Given the description of an element on the screen output the (x, y) to click on. 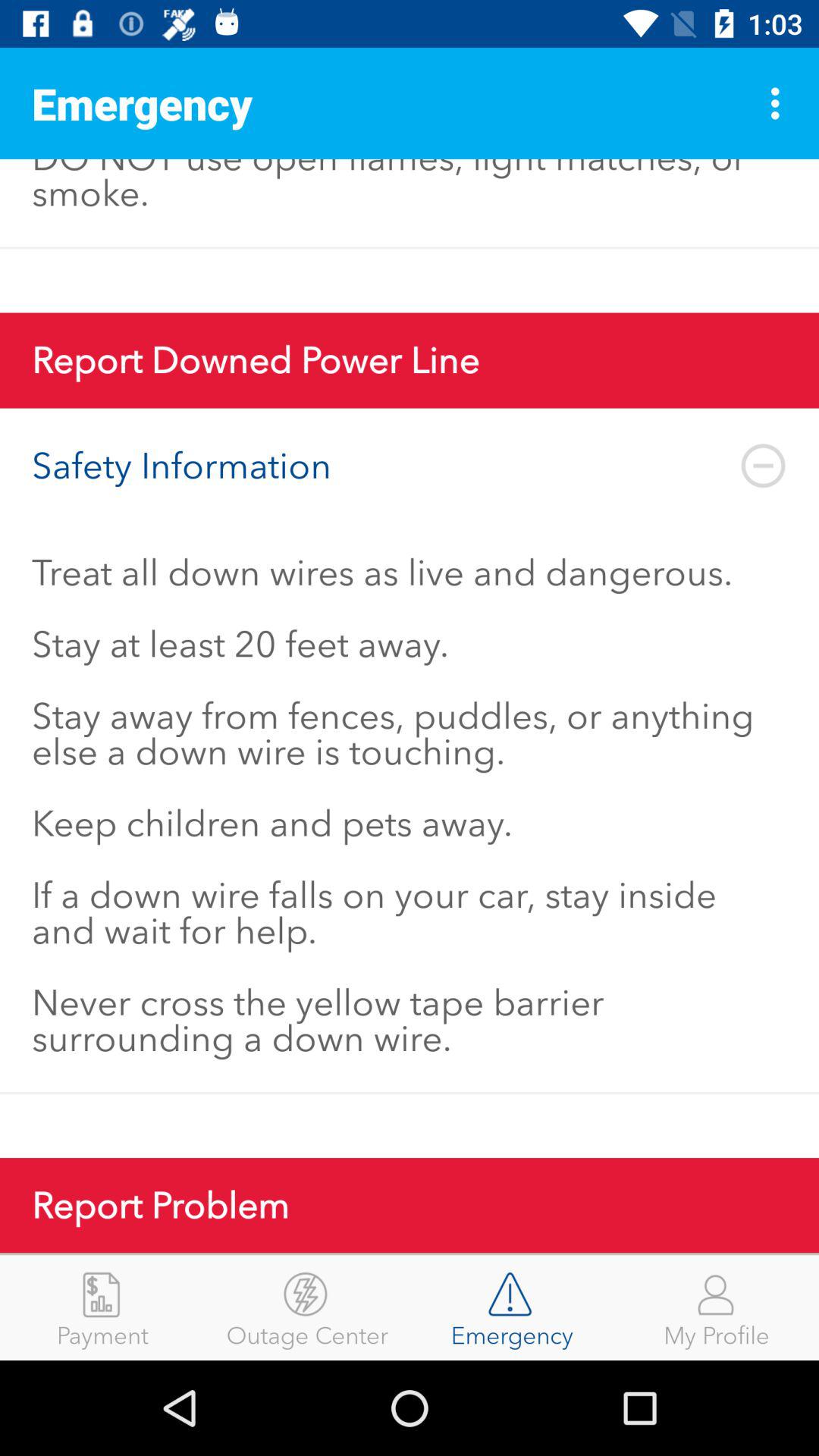
turn off the icon next to the emergency (779, 103)
